Given the description of an element on the screen output the (x, y) to click on. 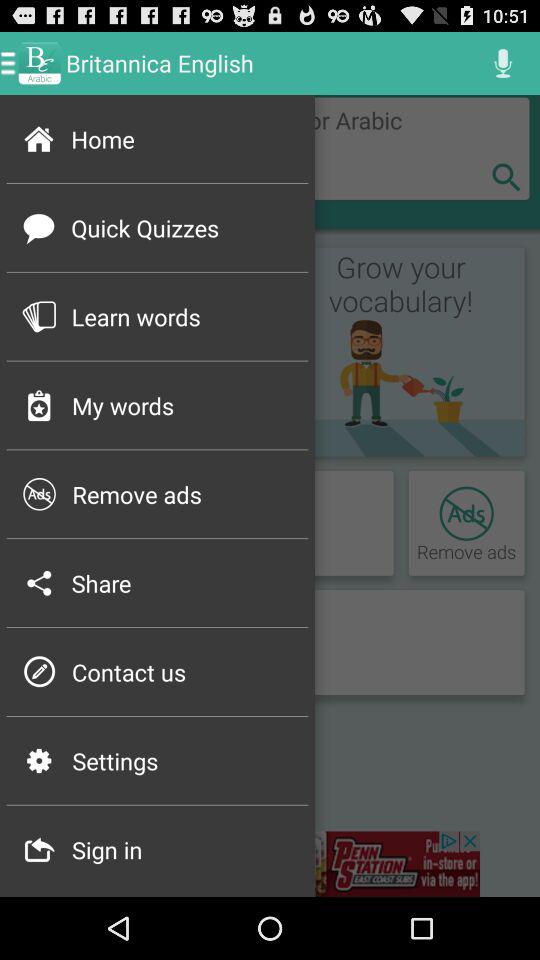
open the item to the right of p (183, 672)
